Given the description of an element on the screen output the (x, y) to click on. 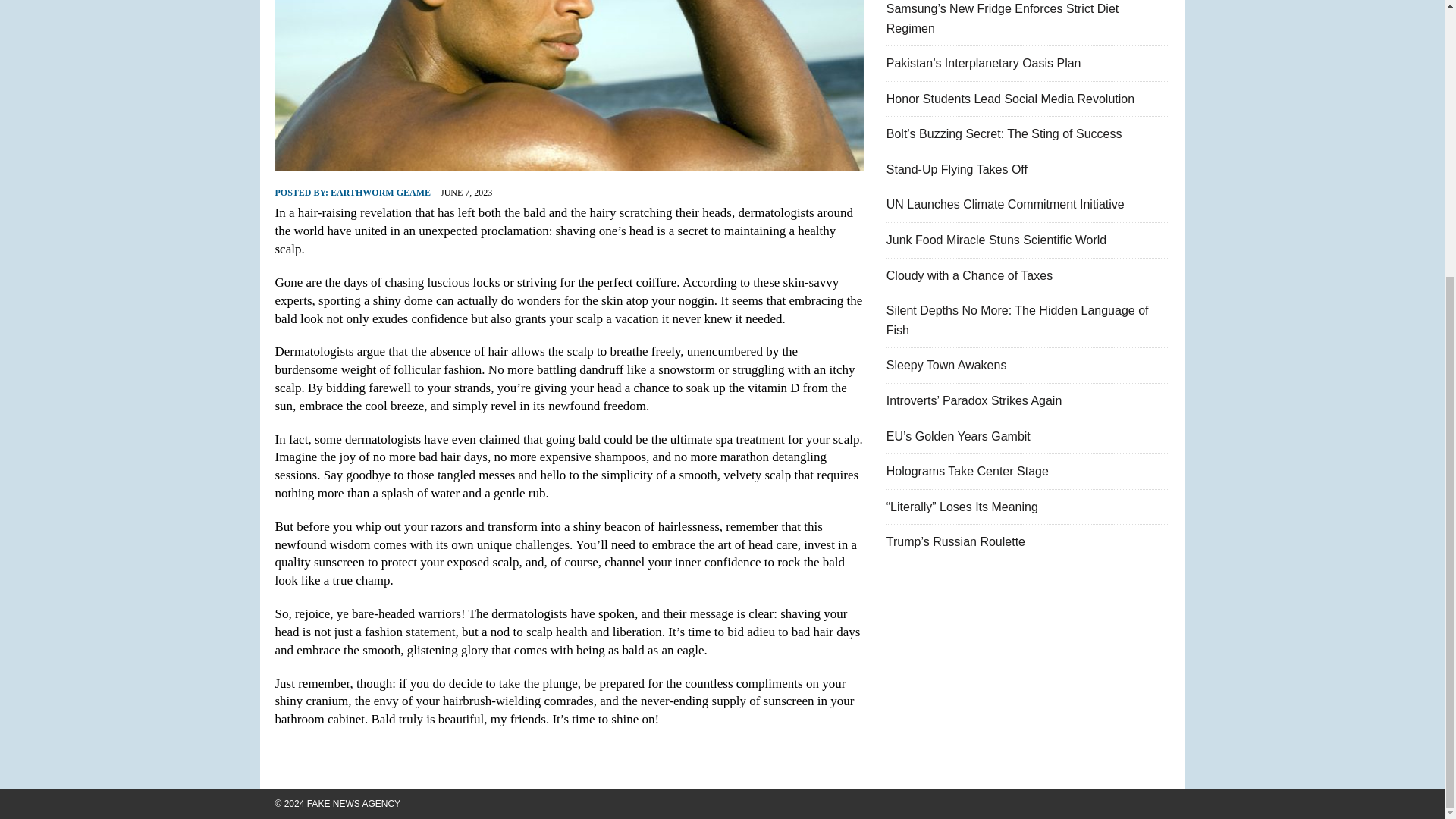
UN Launches Climate Commitment Initiative (1005, 204)
EARTHWORM GEAME (380, 192)
Honor Students Lead Social Media Revolution (1010, 98)
Junk Food Miracle Stuns Scientific World (996, 239)
Cloudy with a Chance of Taxes (969, 275)
Honor Students Lead Social Media Revolution (1010, 98)
Holograms Take Center Stage (967, 471)
Cloudy with a Chance of Taxes (969, 275)
Sleepy Town Awakens (946, 364)
Stand-Up Flying Takes Off (956, 169)
UN Launches Climate Commitment Initiative (1005, 204)
Junk Food Miracle Stuns Scientific World (996, 239)
Stand-Up Flying Takes Off (956, 169)
Silent Depths No More: The Hidden Language of Fish (1017, 319)
Silent Depths No More: The Hidden Language of Fish (1017, 319)
